Given the description of an element on the screen output the (x, y) to click on. 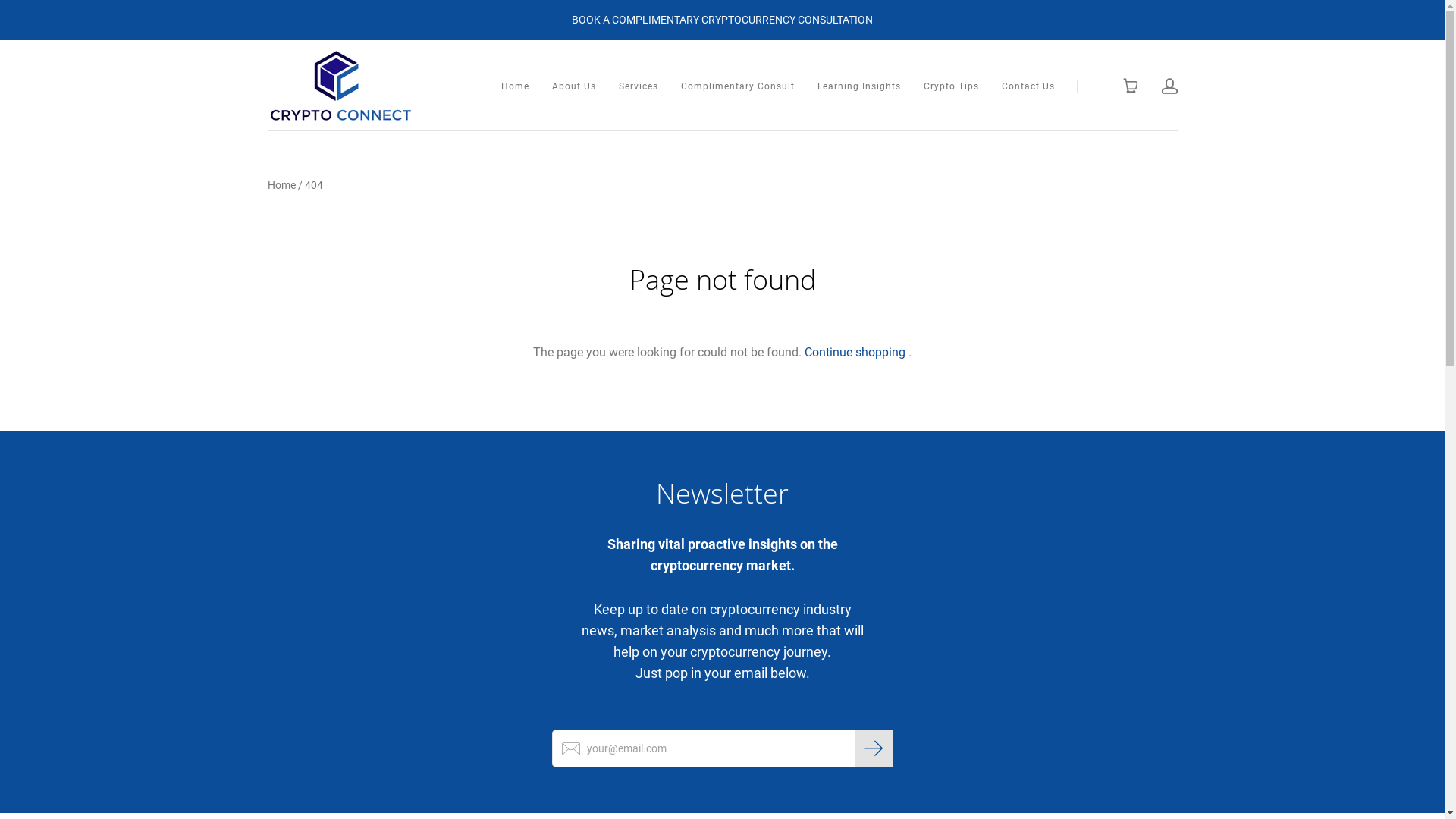
About Us Element type: text (574, 86)
Continue shopping Element type: text (854, 352)
BOOK A COMPLIMENTARY CRYPTOCURRENCY CONSULTATION Element type: text (722, 20)
Home Element type: text (514, 86)
Contact Us Element type: text (1027, 86)
Complimentary Consult Element type: text (737, 86)
Home Element type: text (280, 184)
Subscribe Element type: text (874, 748)
Services Element type: text (638, 86)
Learning Insights Element type: text (858, 86)
Crypto Tips Element type: text (951, 86)
